Given the description of an element on the screen output the (x, y) to click on. 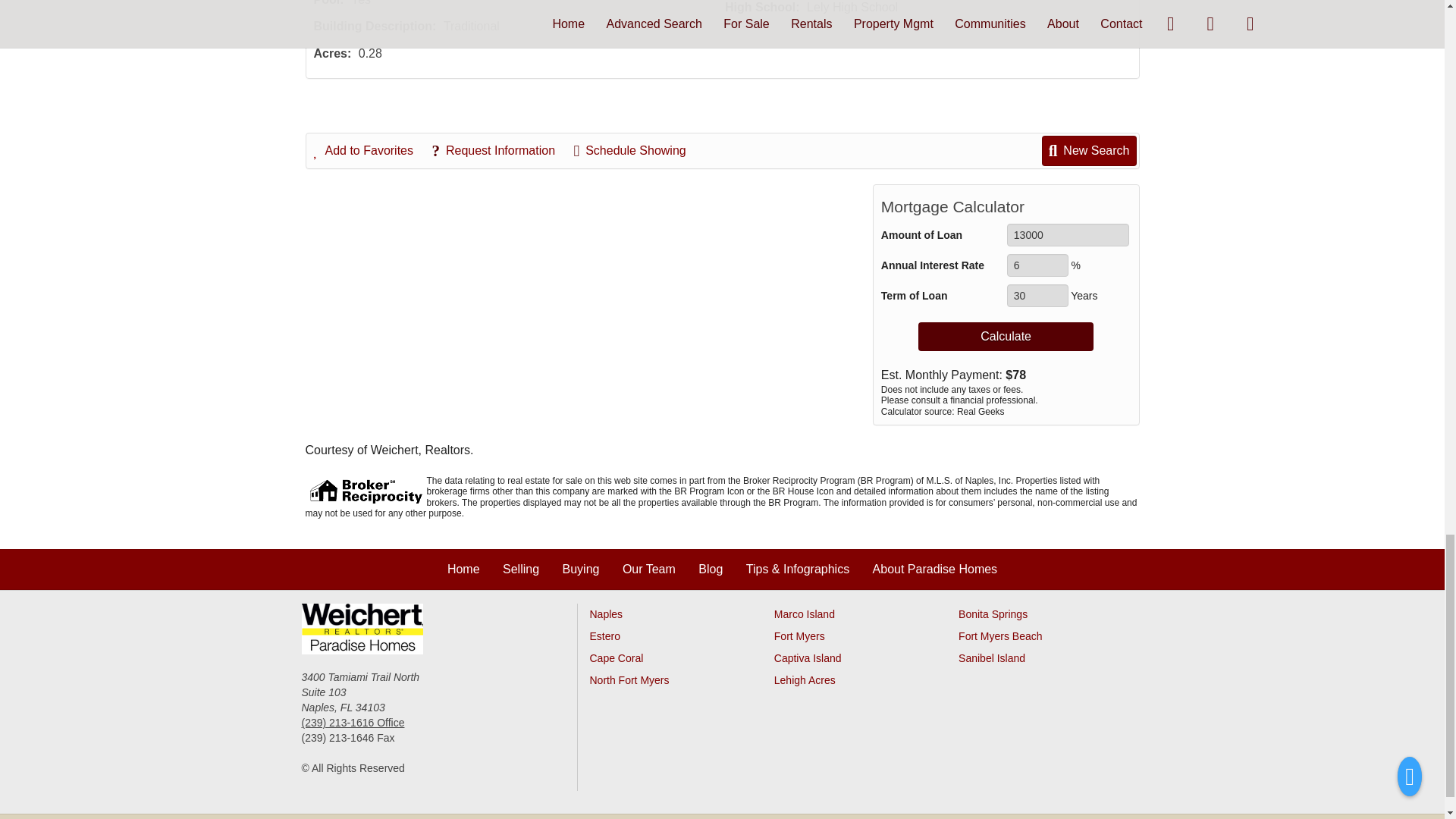
6 (1037, 264)
13000 (1068, 234)
30 (1037, 295)
